Given the description of an element on the screen output the (x, y) to click on. 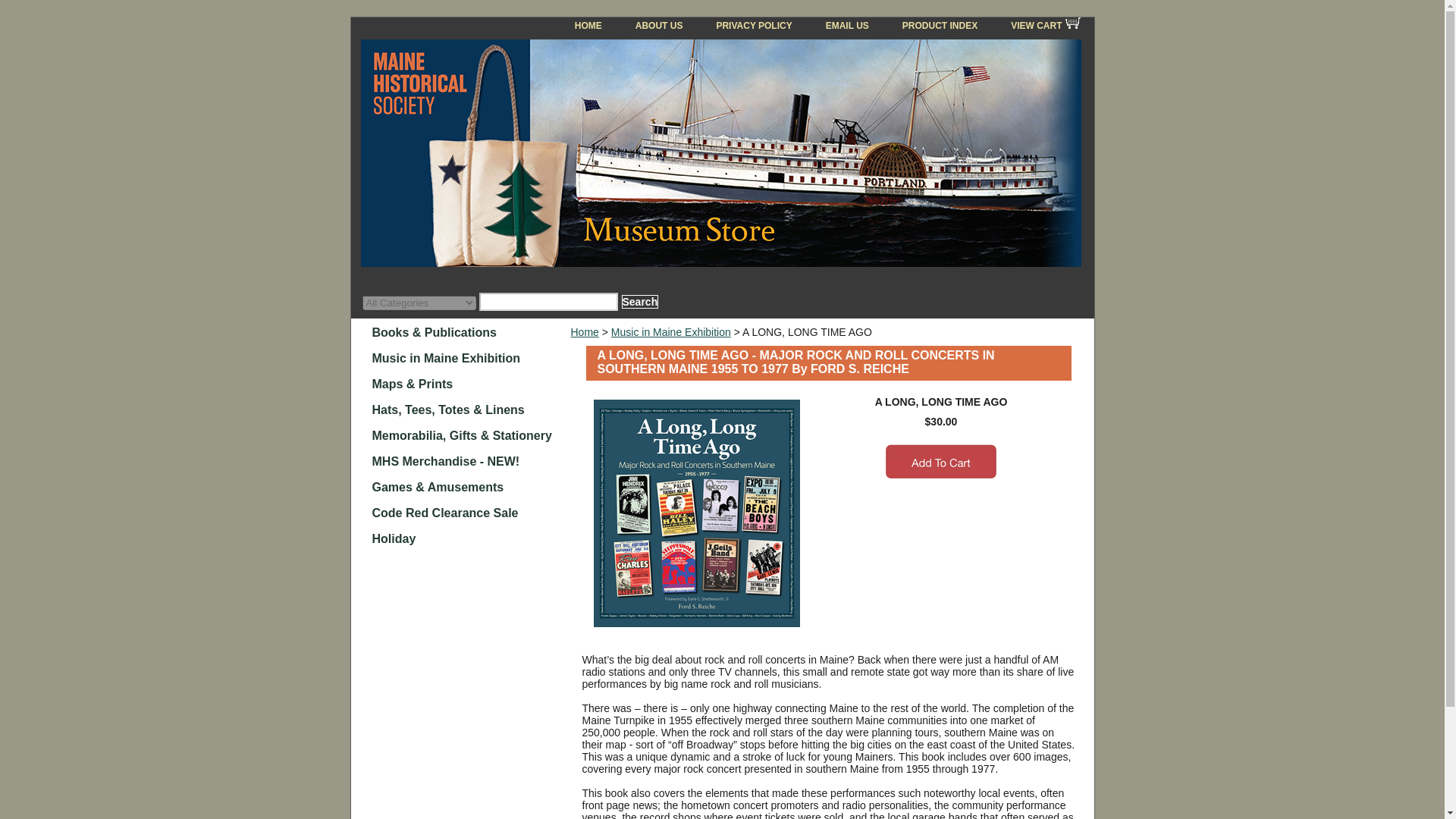
Code Red Clearance Sale (468, 511)
Music in Maine Exhibition (468, 356)
MHS Merchandise - NEW! (468, 460)
A LONG, LONG TIME AGO (696, 512)
Add to Cart (940, 461)
Holiday (468, 537)
EMAIL US (846, 26)
Home (584, 331)
HOME (588, 26)
MHS Merchandise - NEW! (468, 460)
PRIVACY POLICY (753, 26)
VIEW CART (1041, 26)
Code Red Clearance Sale (468, 511)
PRODUCT INDEX (939, 26)
Music in Maine Exhibition (468, 356)
